Given the description of an element on the screen output the (x, y) to click on. 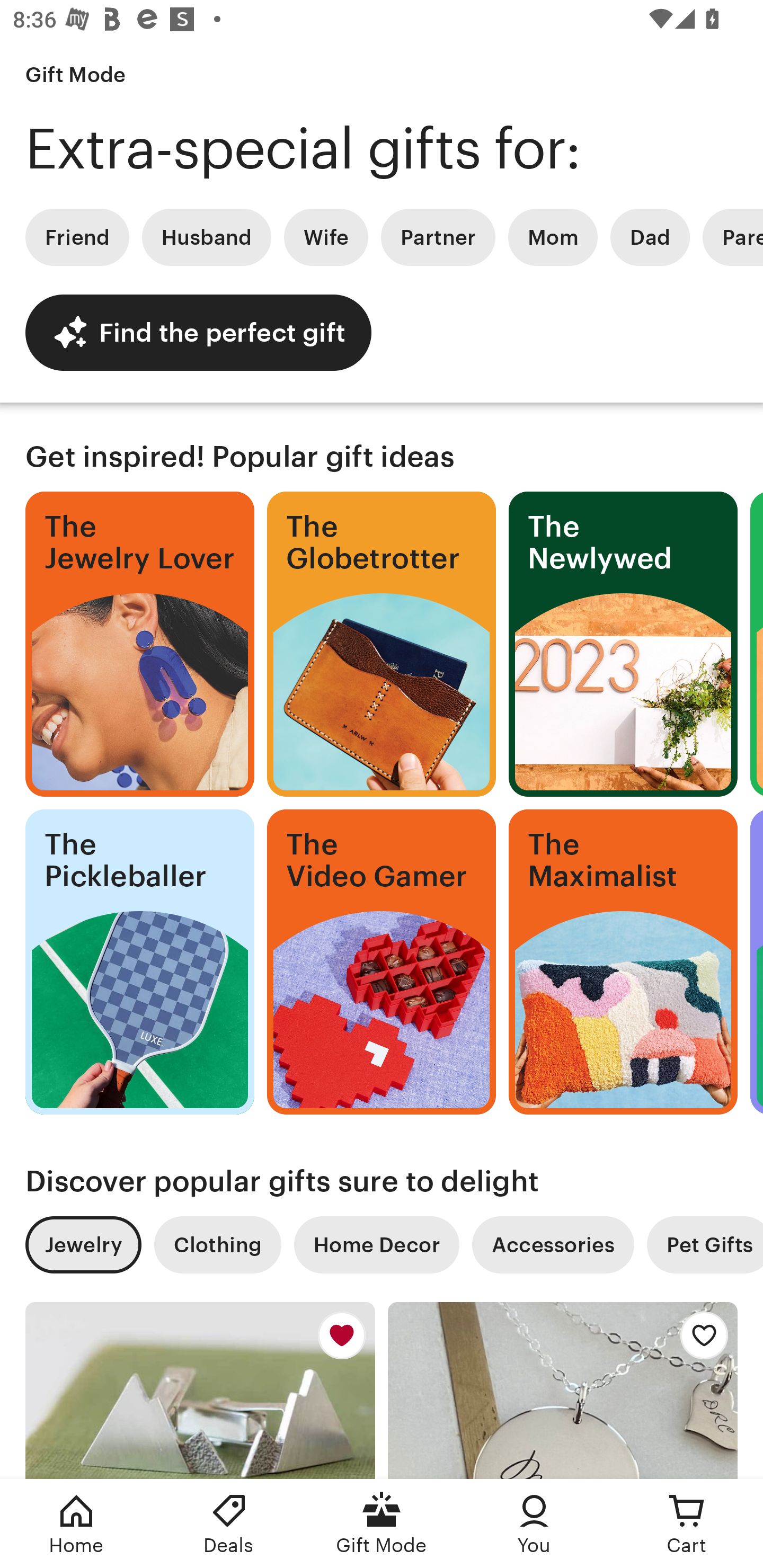
Friend (76, 237)
Husband (206, 237)
Wife (325, 237)
Partner (437, 237)
Mom (552, 237)
Dad (649, 237)
Find the perfect gift (198, 332)
The Jewelry Lover (139, 644)
The Globetrotter (381, 644)
The Newlywed (622, 644)
The Pickleballer (139, 961)
The Video Gamer (381, 961)
The Maximalist (622, 961)
Jewelry (83, 1244)
Clothing (217, 1244)
Home Decor (376, 1244)
Accessories (553, 1244)
Pet Gifts (705, 1244)
Home (76, 1523)
Deals (228, 1523)
You (533, 1523)
Cart (686, 1523)
